Given the description of an element on the screen output the (x, y) to click on. 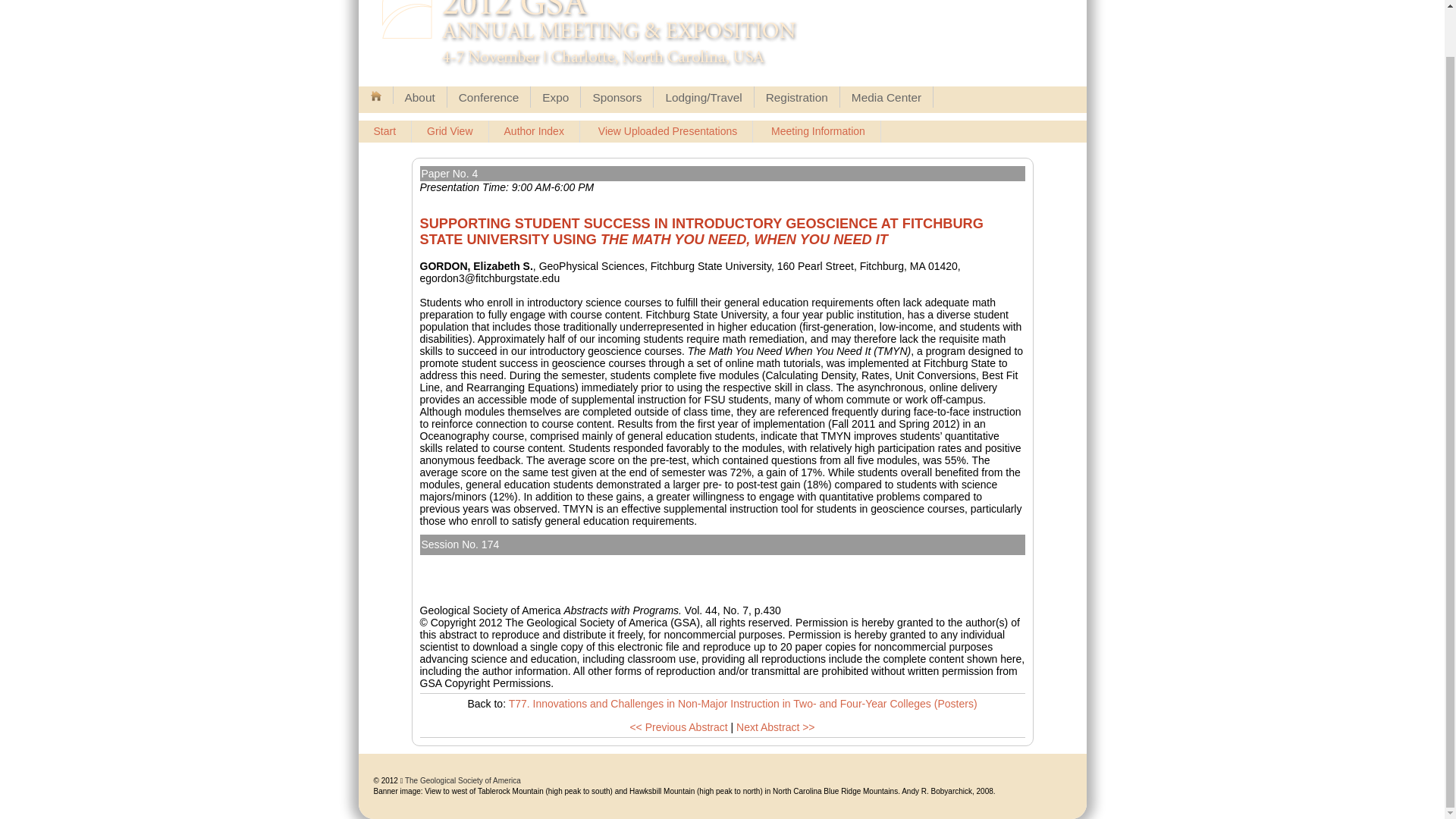
The Geological Society of America (462, 780)
Start (385, 131)
View Uploaded Presentations (667, 131)
Registration (797, 96)
Sponsors (616, 96)
Author Index (534, 131)
Expo (555, 96)
Media Center (886, 96)
Grid View (449, 131)
Meeting Information (817, 131)
